Given the description of an element on the screen output the (x, y) to click on. 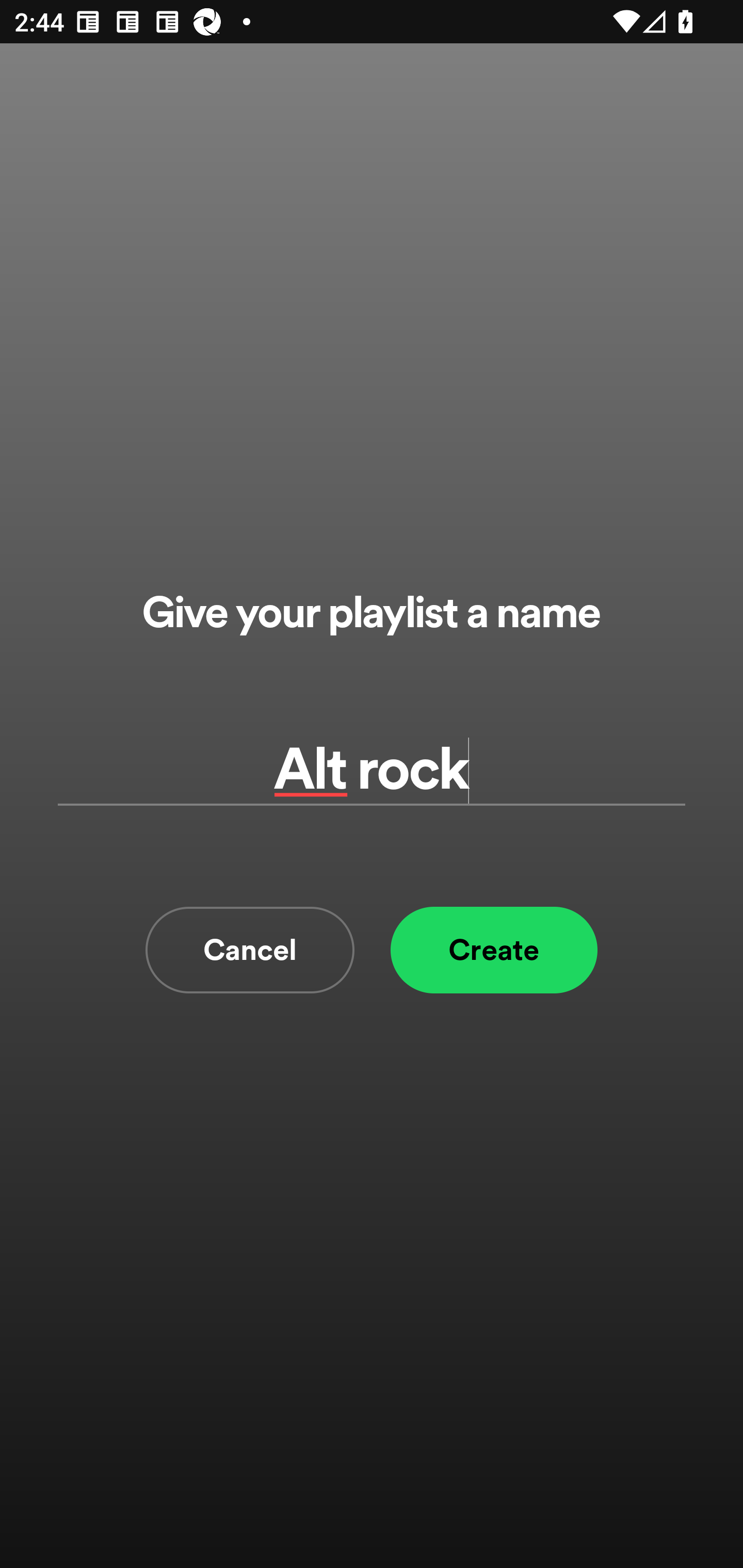
Alt rock Add a playlist name (371, 769)
Cancel (249, 950)
Create (493, 950)
